Given the description of an element on the screen output the (x, y) to click on. 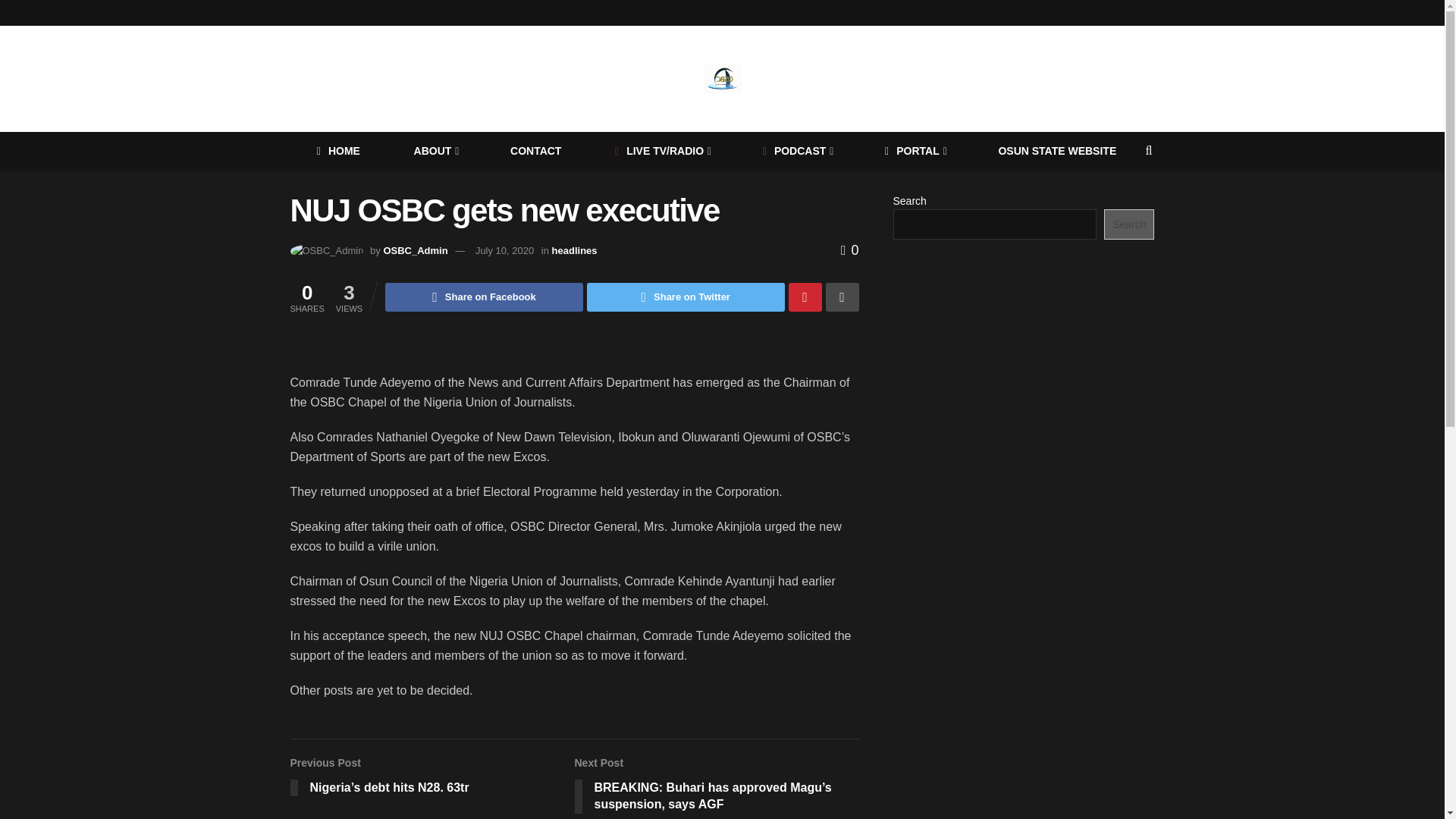
HOME (338, 150)
CONTACT (535, 150)
ABOUT (435, 150)
PORTAL (915, 150)
OSUN STATE WEBSITE (1056, 150)
PODCAST (796, 150)
